Given the description of an element on the screen output the (x, y) to click on. 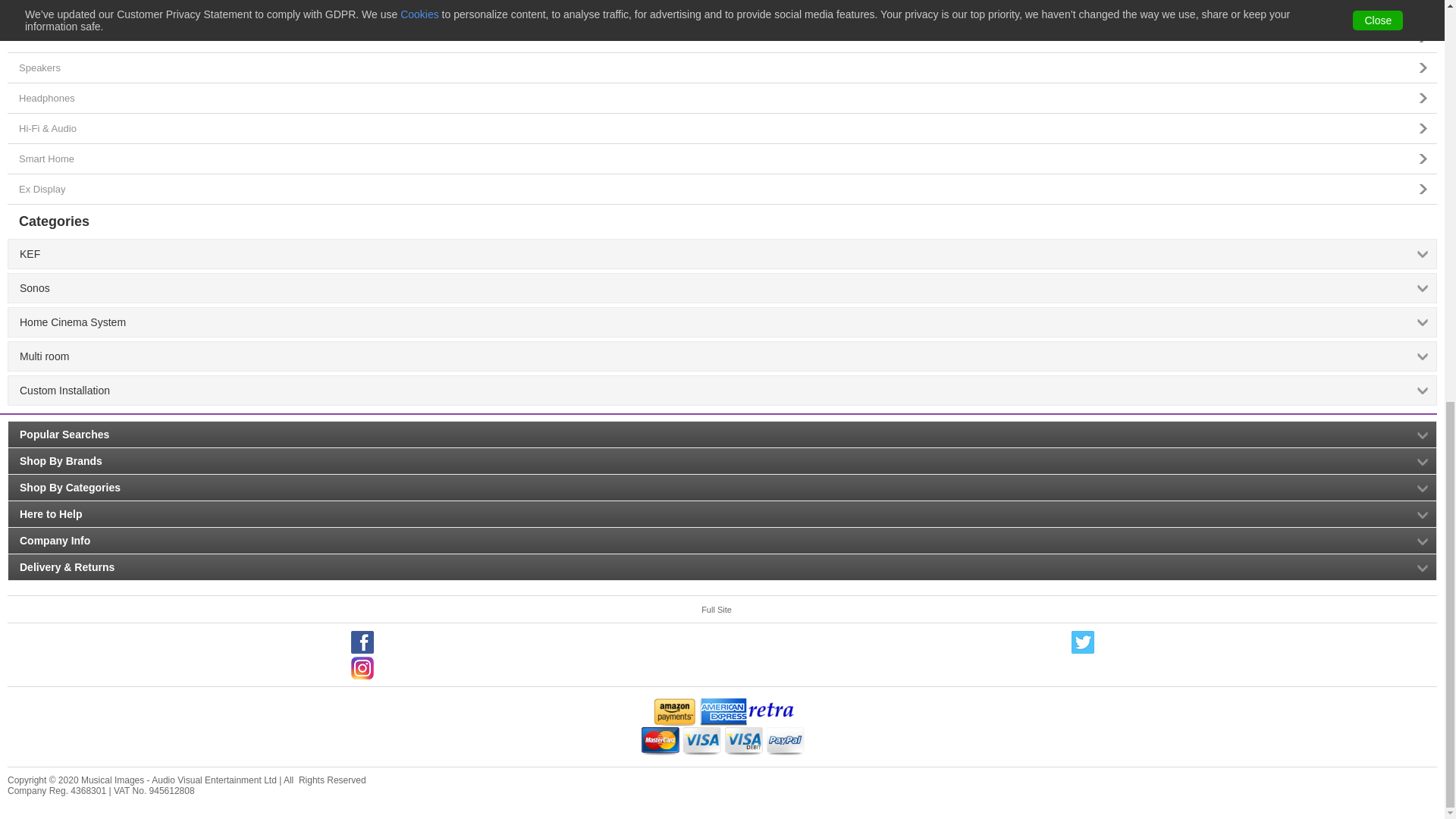
Smart Home (722, 158)
Speakers (722, 67)
Headphones (722, 97)
Home Cinema (722, 37)
Ex Display (722, 188)
Multi-Room (722, 11)
